Given the description of an element on the screen output the (x, y) to click on. 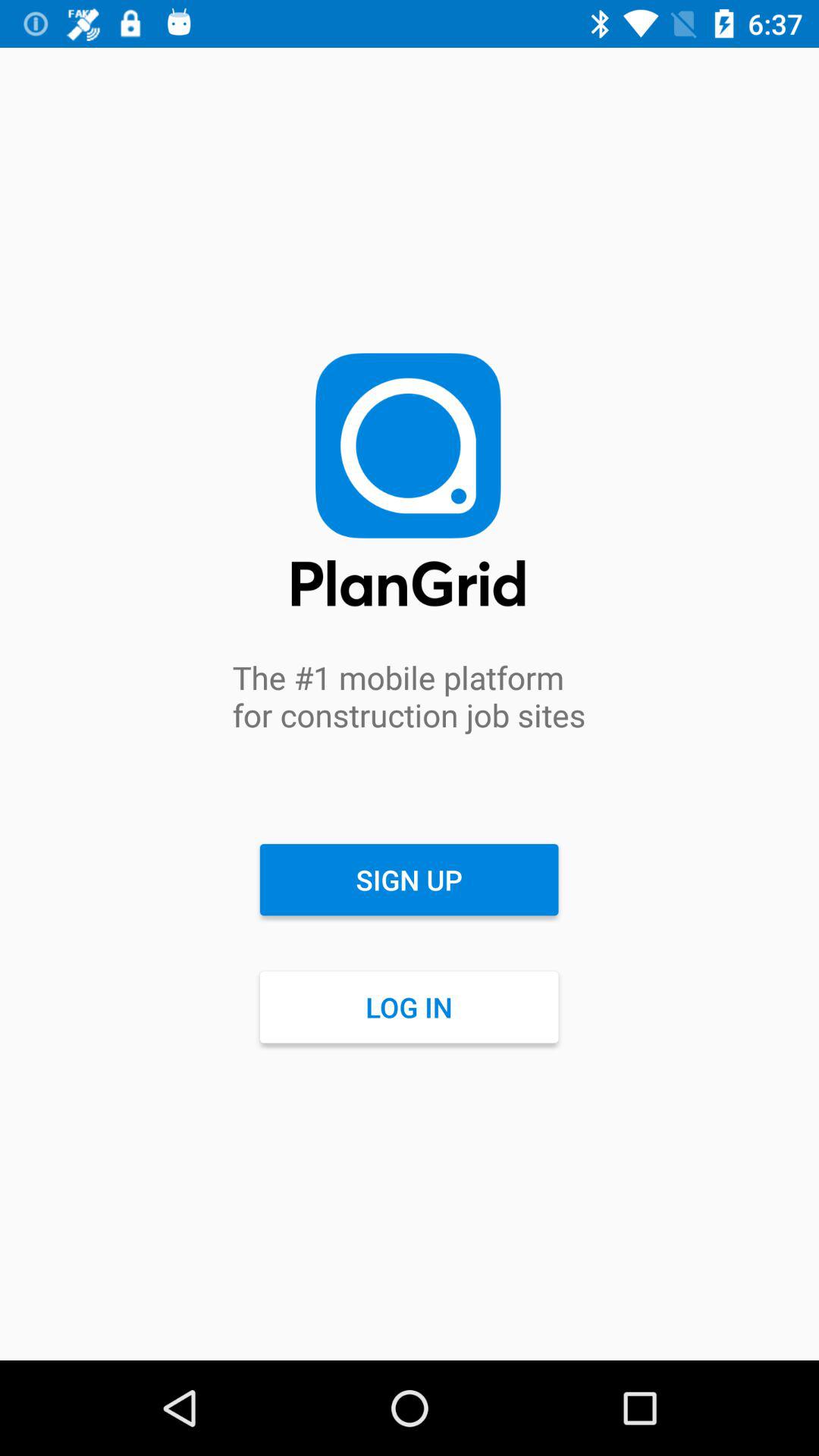
jump to the log in icon (408, 1007)
